Given the description of an element on the screen output the (x, y) to click on. 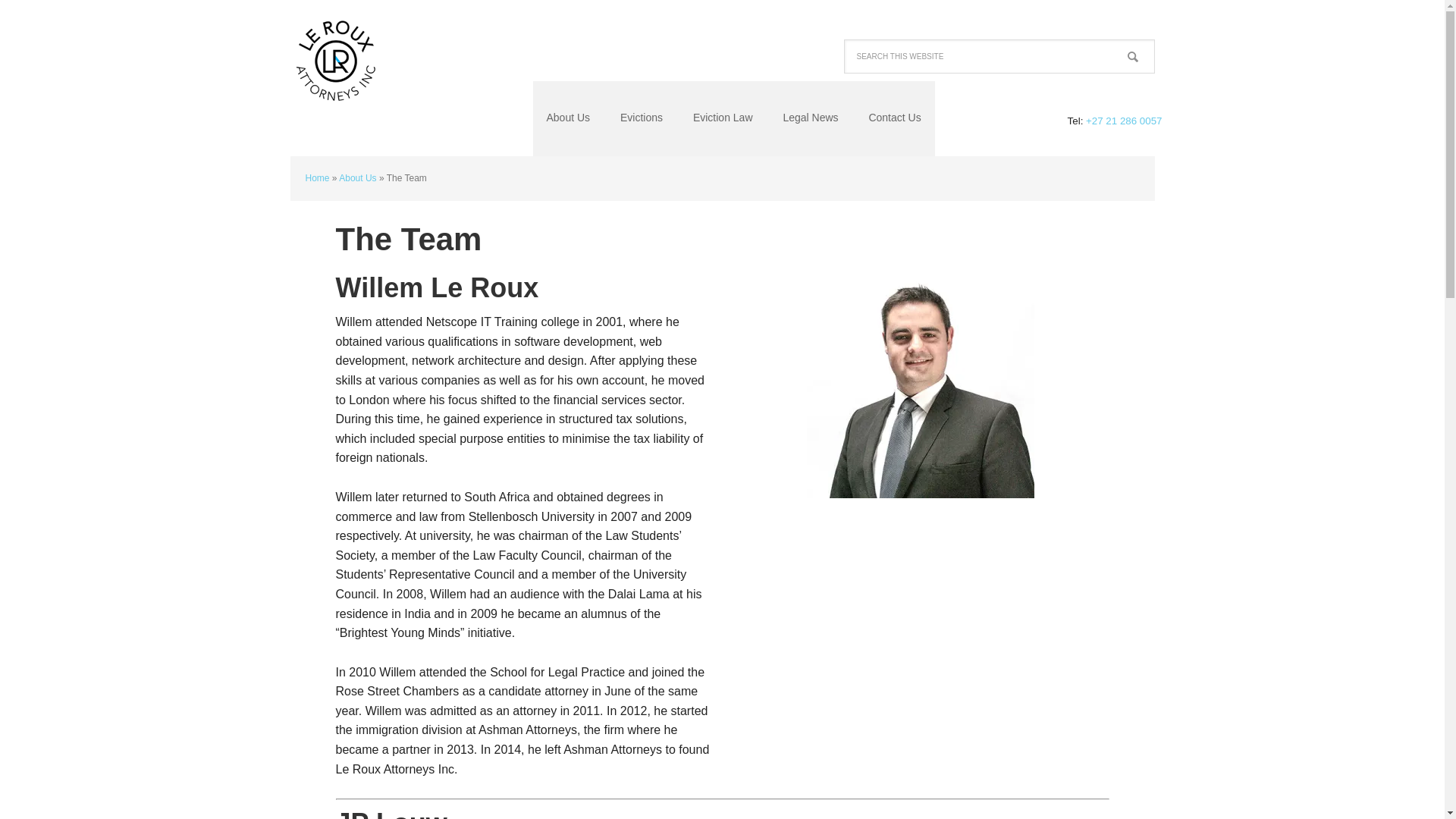
About Us (568, 118)
Legal News (809, 118)
Evictions (642, 118)
Home (316, 177)
About Us (357, 177)
Eviction Law (723, 118)
Contact Us (894, 118)
